Given the description of an element on the screen output the (x, y) to click on. 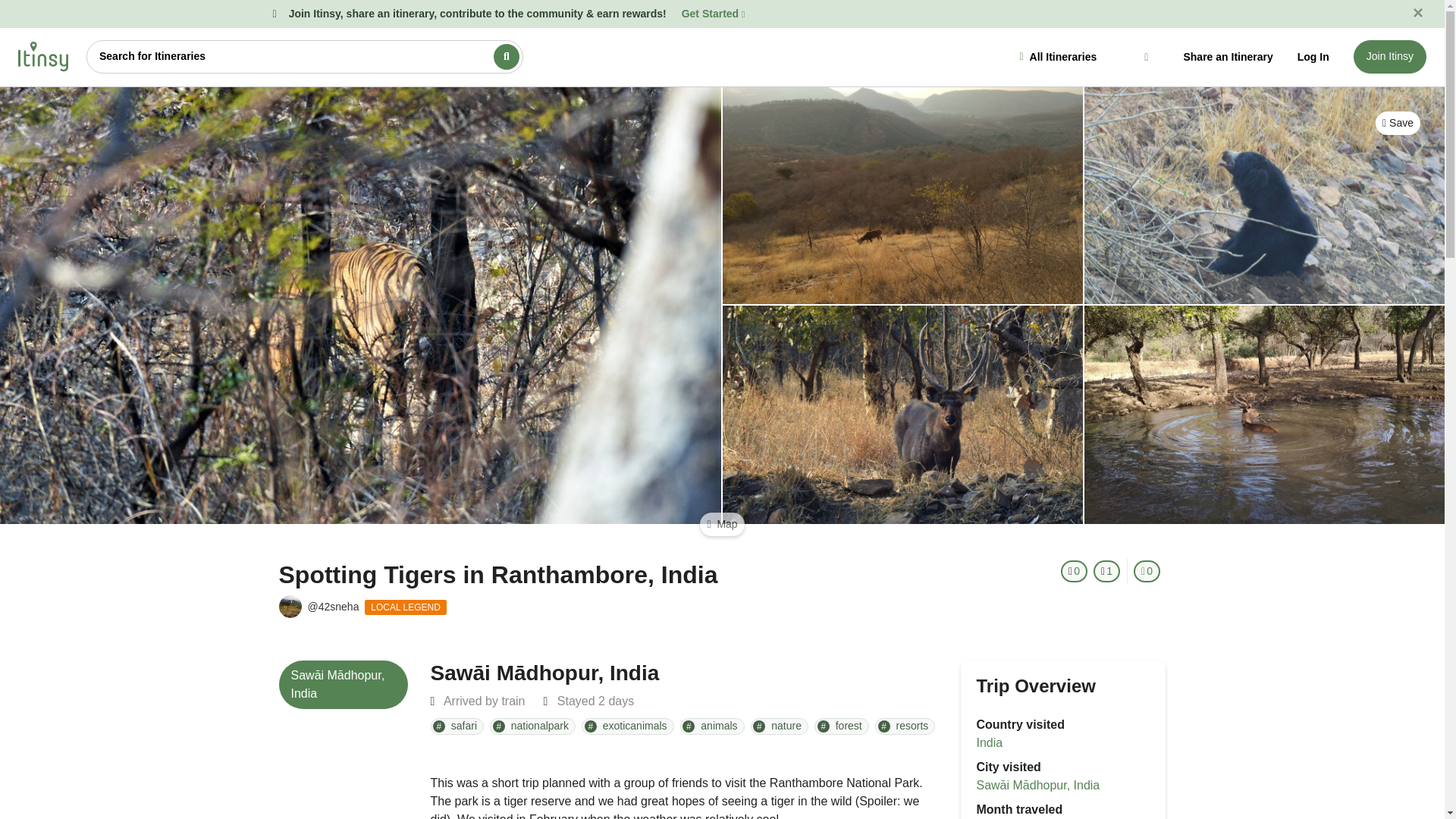
Map (722, 524)
Join Itinsy (1390, 56)
All Itineraries (1085, 56)
Get Started (713, 13)
Comments (1147, 570)
0 (1147, 570)
Save (1398, 123)
Share an Itinerary (1227, 56)
Log In (1312, 56)
